Given the description of an element on the screen output the (x, y) to click on. 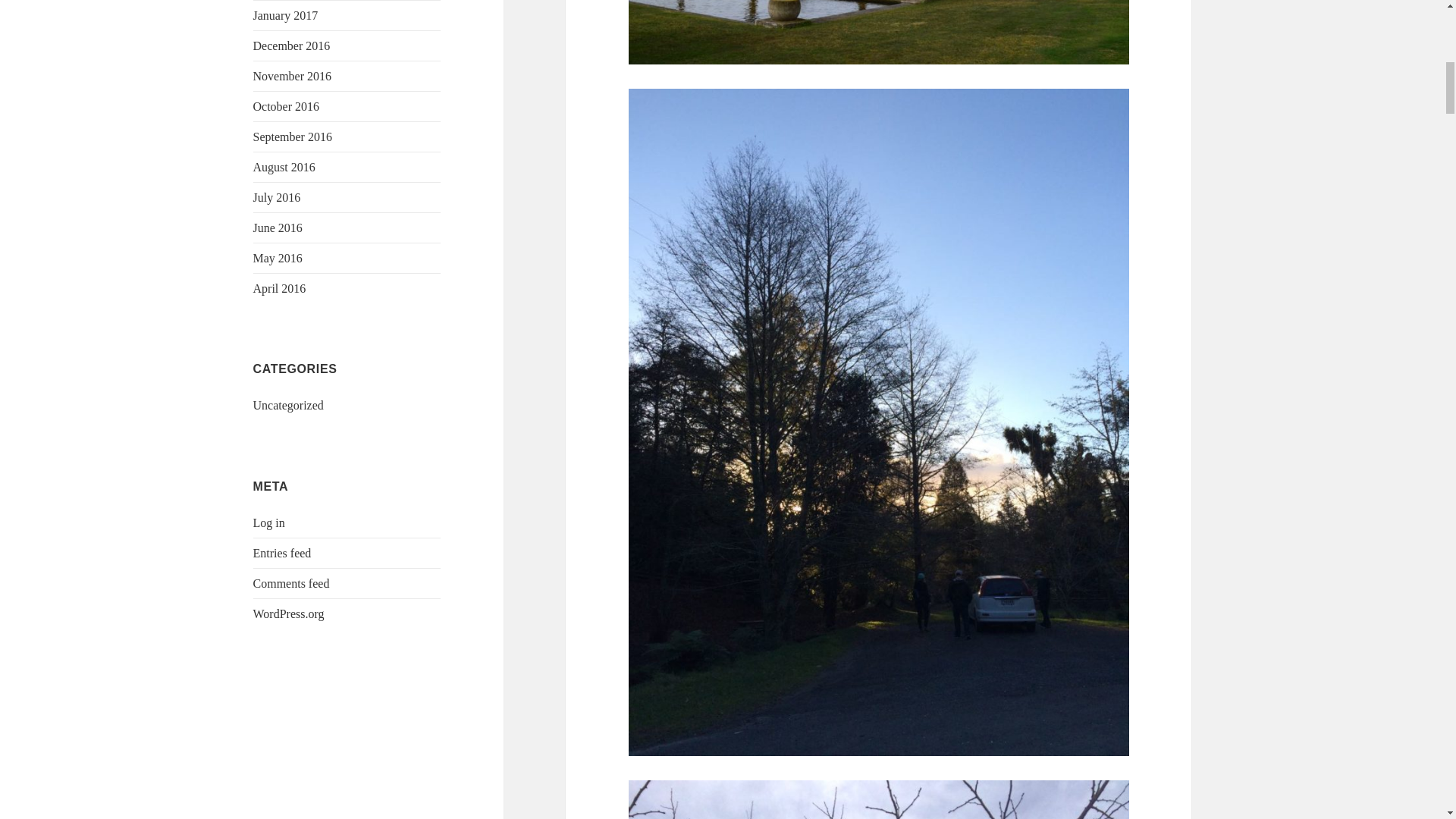
Entries feed (282, 553)
Comments feed (291, 583)
Uncategorized (288, 404)
May 2016 (277, 257)
August 2016 (284, 166)
January 2017 (285, 15)
WordPress.org (288, 613)
July 2016 (277, 196)
September 2016 (292, 136)
November 2016 (292, 75)
October 2016 (286, 106)
December 2016 (291, 45)
Log in (269, 522)
June 2016 (277, 227)
April 2016 (279, 287)
